Given the description of an element on the screen output the (x, y) to click on. 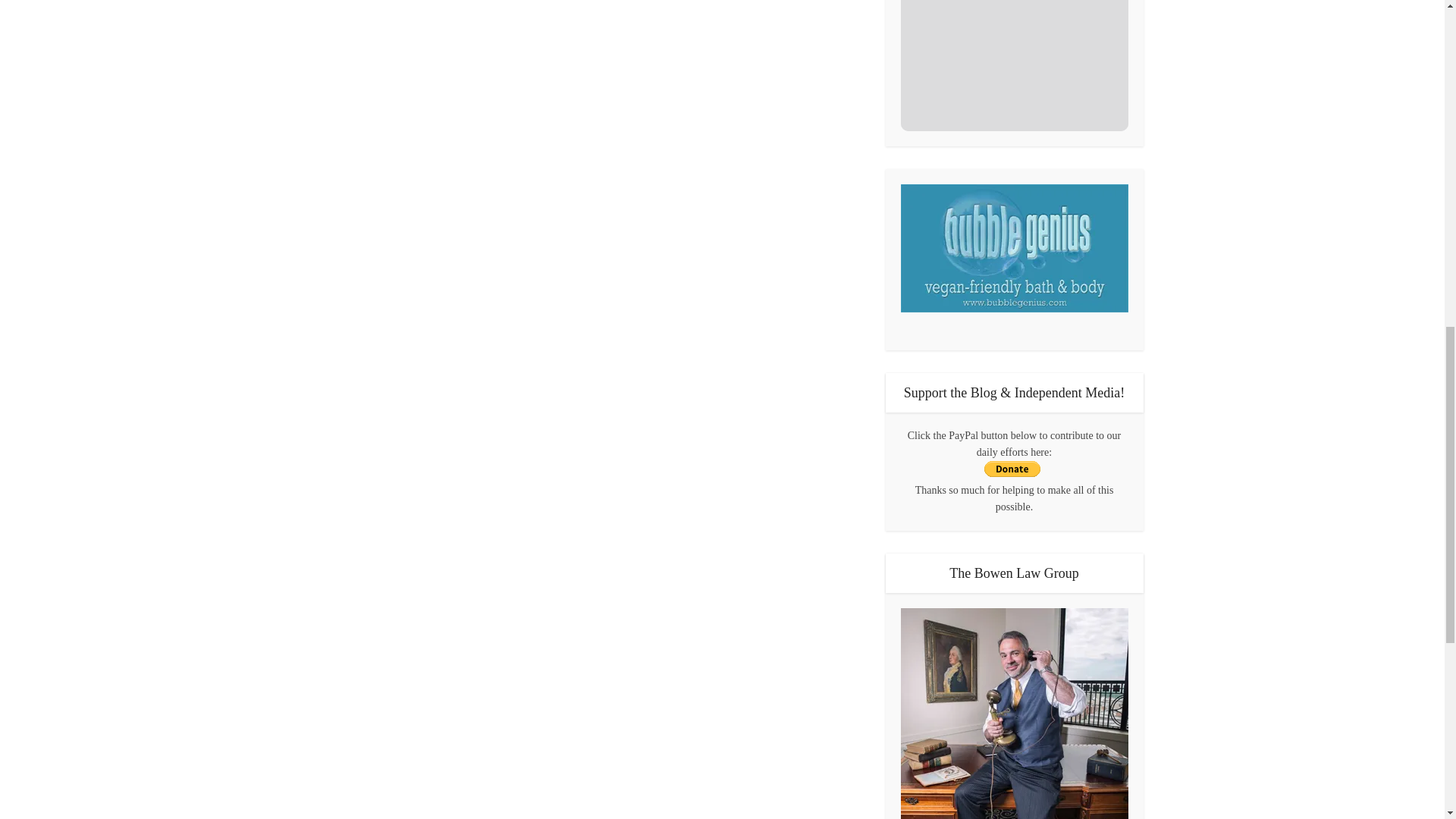
PayPal - The safer, easier way to pay online! (1012, 468)
